Given the description of an element on the screen output the (x, y) to click on. 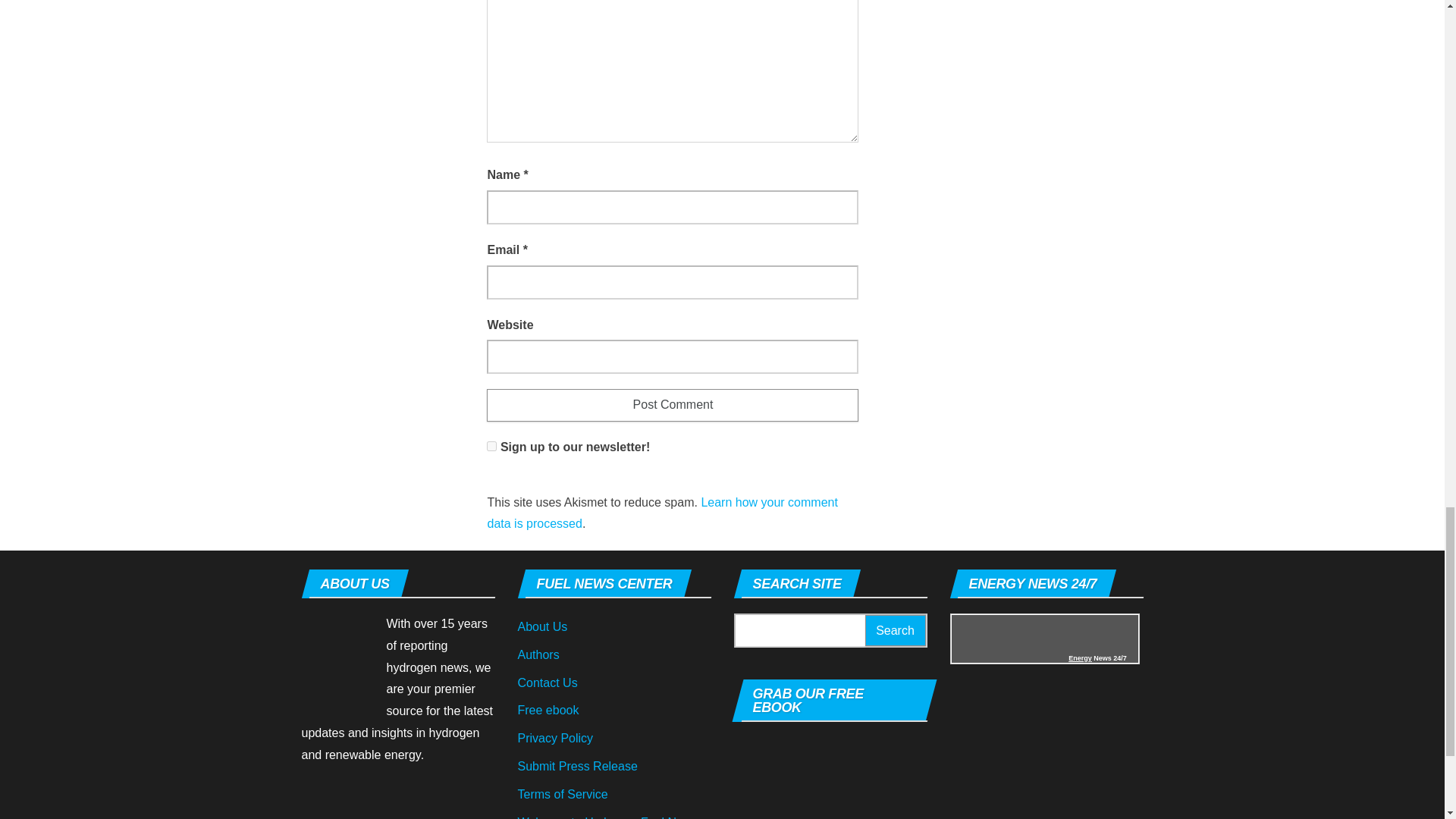
Search (894, 630)
1 (491, 446)
Post Comment (672, 405)
